Given the description of an element on the screen output the (x, y) to click on. 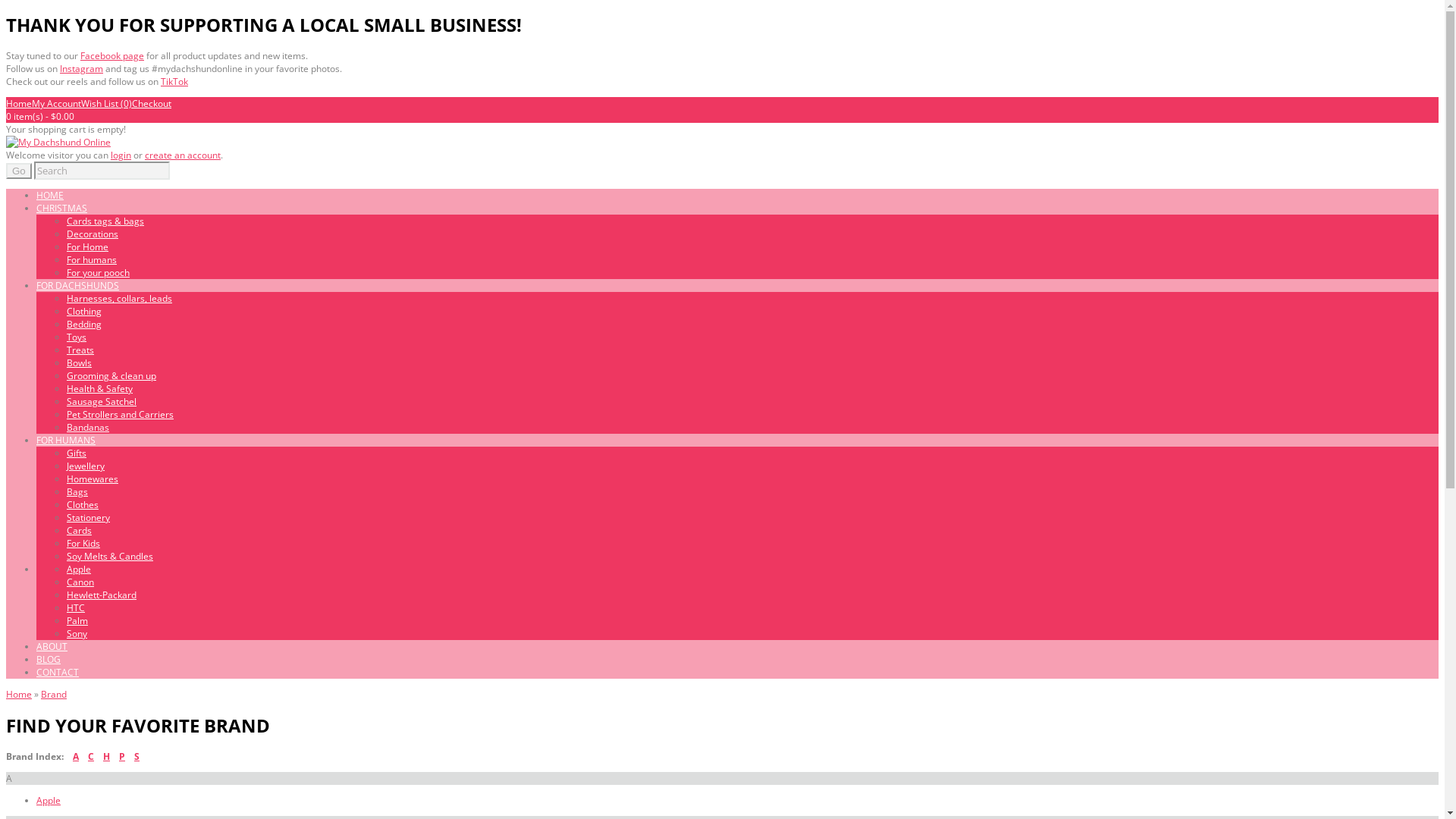
Homewares Element type: text (92, 478)
For humans Element type: text (91, 259)
FOR HUMANS Element type: text (65, 439)
Clothes Element type: text (82, 504)
Stationery Element type: text (87, 517)
FOR DACHSHUNDS Element type: text (77, 285)
My Dachshund Online Element type: hover (58, 141)
Cards tags & bags Element type: text (105, 220)
0 item(s) - $0.00 Element type: text (40, 115)
Sausage Satchel Element type: text (101, 401)
P Element type: text (122, 755)
Pet Strollers and Carriers Element type: text (119, 413)
For Kids Element type: text (83, 542)
HOME Element type: text (49, 194)
S Element type: text (136, 755)
create an account Element type: text (182, 154)
CHRISTMAS Element type: text (61, 207)
Search Element type: text (101, 170)
Decorations Element type: text (92, 233)
Bags Element type: text (76, 491)
Instagram Element type: text (81, 68)
My Account Element type: text (56, 103)
Wish List (0) Element type: text (106, 103)
Health & Safety Element type: text (99, 388)
Canon Element type: text (80, 581)
login Element type: text (120, 154)
Palm Element type: text (76, 620)
Jewellery Element type: text (85, 465)
Bedding Element type: text (83, 323)
BLOG Element type: text (48, 658)
Toys Element type: text (76, 336)
Treats Element type: text (80, 349)
H Element type: text (106, 755)
Bandanas Element type: text (87, 426)
Hewlett-Packard Element type: text (101, 594)
A Element type: text (75, 755)
Apple Element type: text (48, 799)
Checkout Element type: text (151, 103)
Soy Melts & Candles Element type: text (109, 555)
Clothing Element type: text (83, 310)
Harnesses, collars, leads Element type: text (119, 297)
Go Element type: text (18, 170)
Facebook page Element type: text (112, 55)
CONTACT Element type: text (57, 671)
Cards Element type: text (78, 530)
C Element type: text (90, 755)
Grooming & clean up Element type: text (111, 375)
For Home Element type: text (87, 246)
HTC Element type: text (75, 607)
ABOUT Element type: text (51, 646)
Gifts Element type: text (76, 452)
TikTok Element type: text (174, 81)
For your pooch Element type: text (97, 272)
Sony Element type: text (76, 633)
Home Element type: text (18, 103)
Bowls Element type: text (78, 362)
Brand Element type: text (53, 693)
Home Element type: text (18, 693)
Apple Element type: text (78, 568)
